Given the description of an element on the screen output the (x, y) to click on. 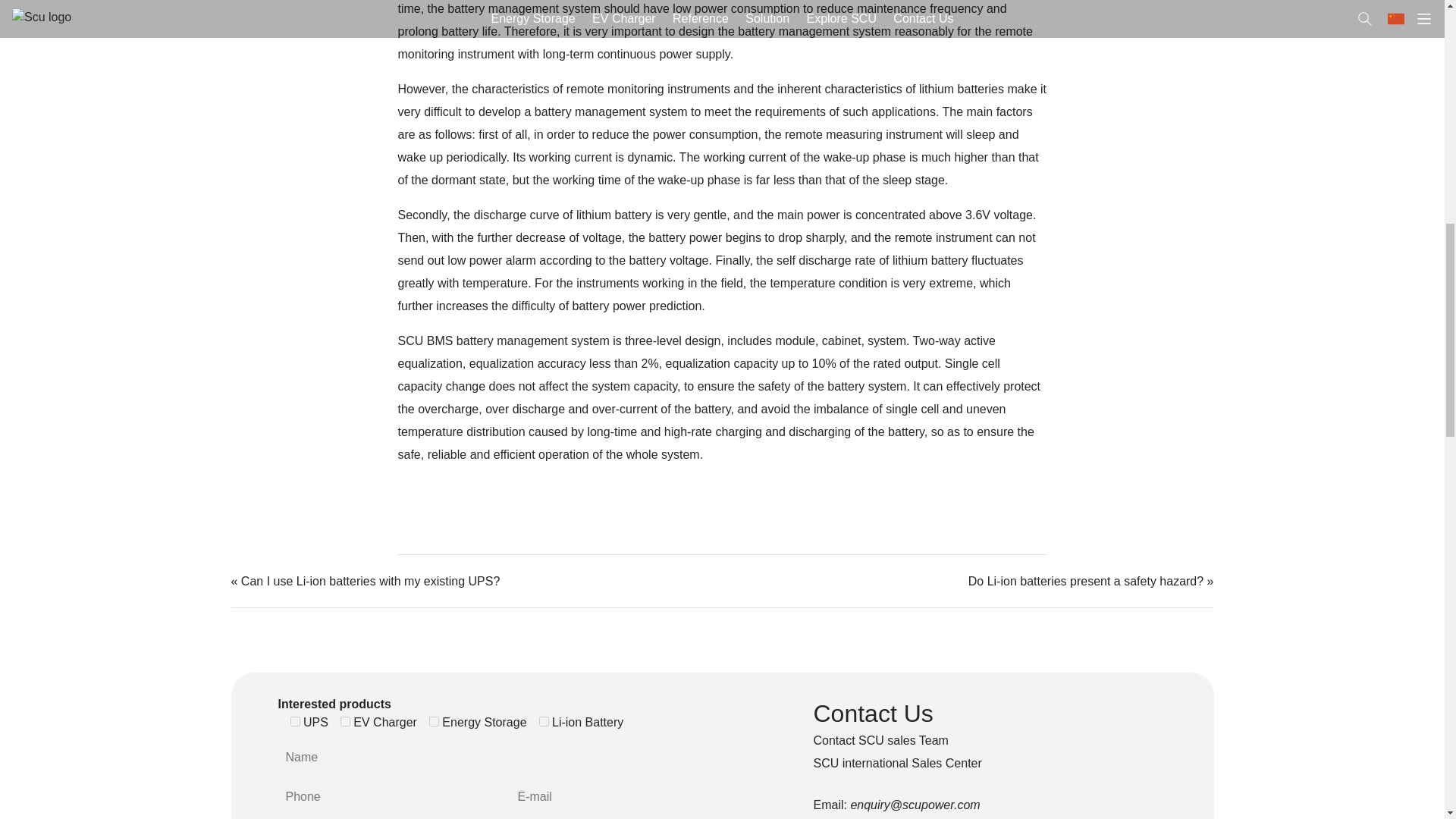
EV Charger (345, 721)
UPS (294, 721)
Energy Storage (434, 721)
Li-ion Battery (543, 721)
